Given the description of an element on the screen output the (x, y) to click on. 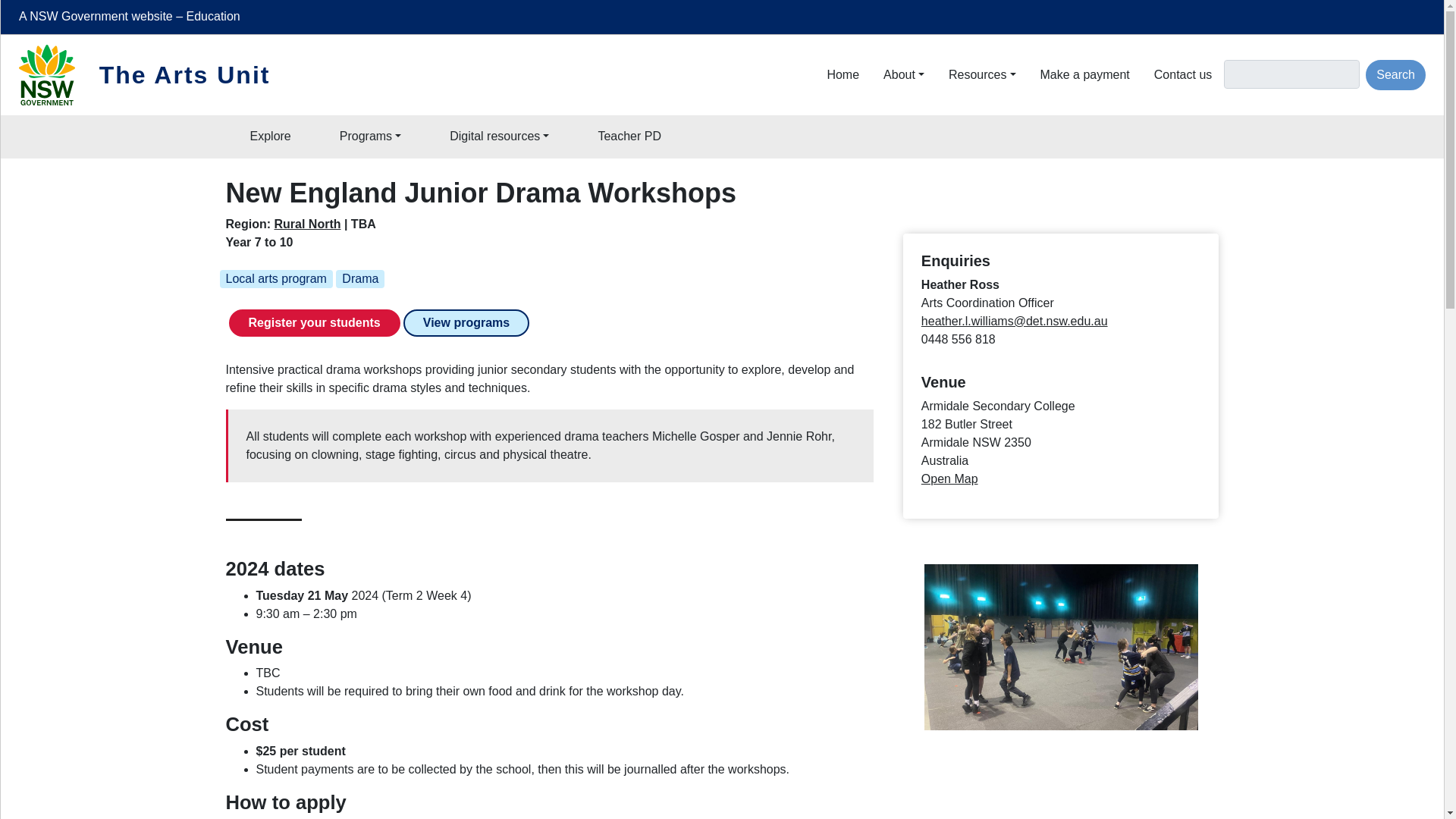
Resources (982, 74)
Home (56, 75)
Home (842, 74)
Expand menu Programs (370, 136)
Expand menu Resources (982, 74)
Expand menu Digital resources (499, 136)
Search (1395, 74)
Digital resources (499, 136)
Explore (270, 136)
